Given the description of an element on the screen output the (x, y) to click on. 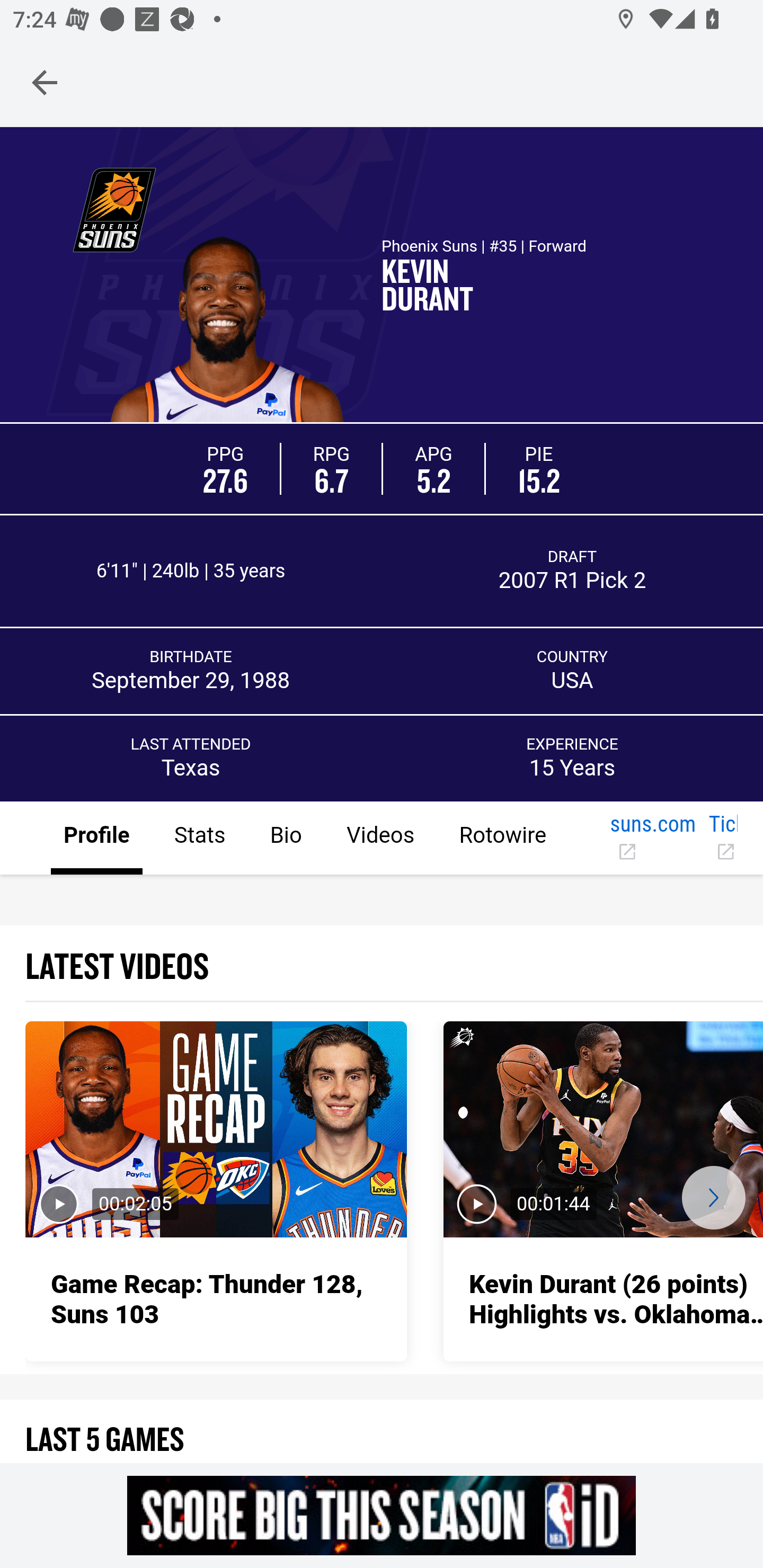
Navigate up (44, 82)
Phoenix Suns Logo (114, 209)
Profile (97, 838)
Stats (199, 838)
Bio (284, 838)
Videos (379, 838)
Rotowire (501, 838)
suns.com (651, 838)
Carousel Button (713, 1197)
g5nqqygr7owph (381, 1515)
